Given the description of an element on the screen output the (x, y) to click on. 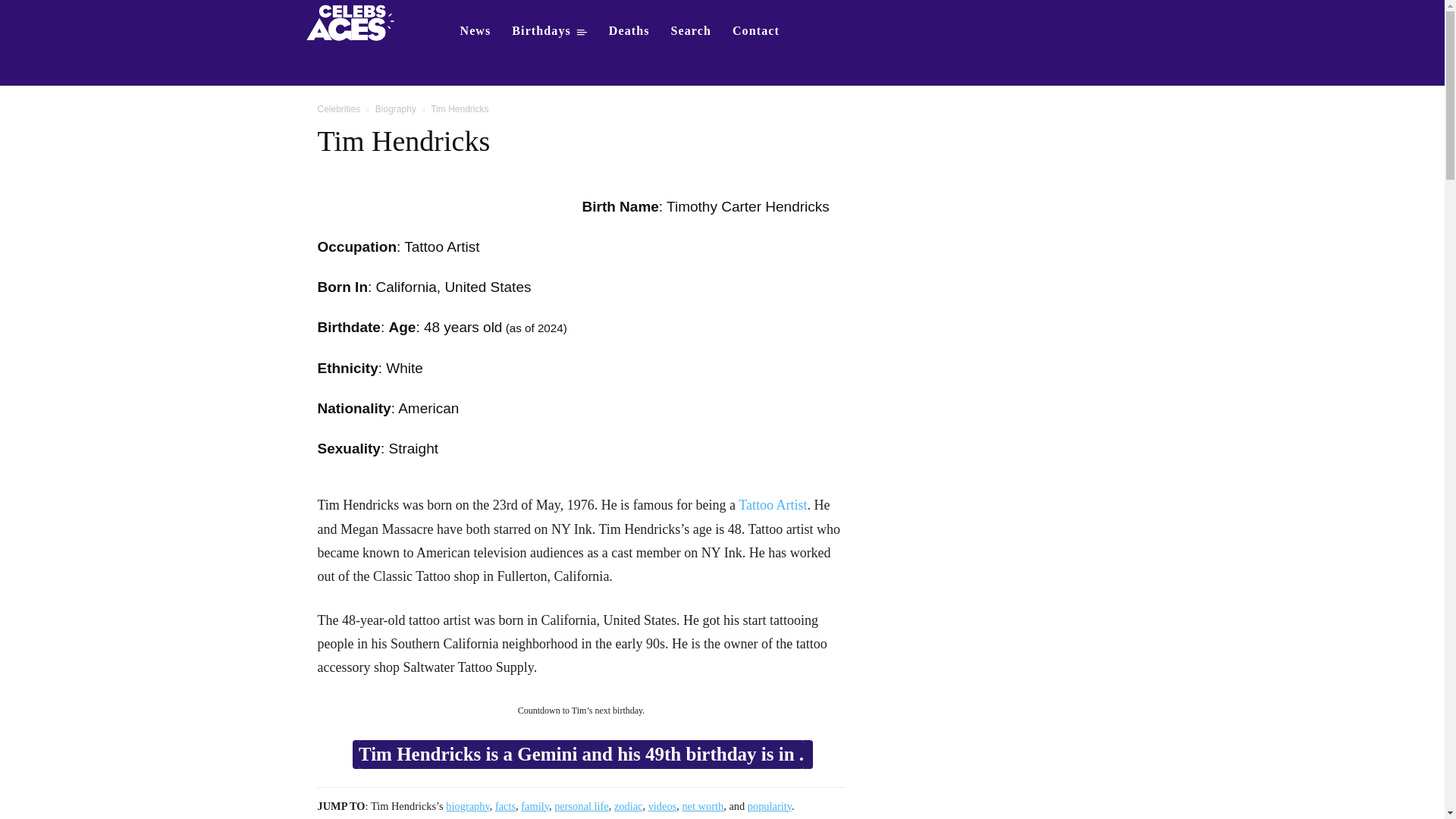
popularity (770, 806)
Contact (756, 31)
News (474, 31)
Who is dating who (354, 21)
Birthdays (548, 31)
Biography (395, 109)
personal life (581, 806)
Celebs News (474, 31)
family (534, 806)
Celebrities (338, 109)
